Given the description of an element on the screen output the (x, y) to click on. 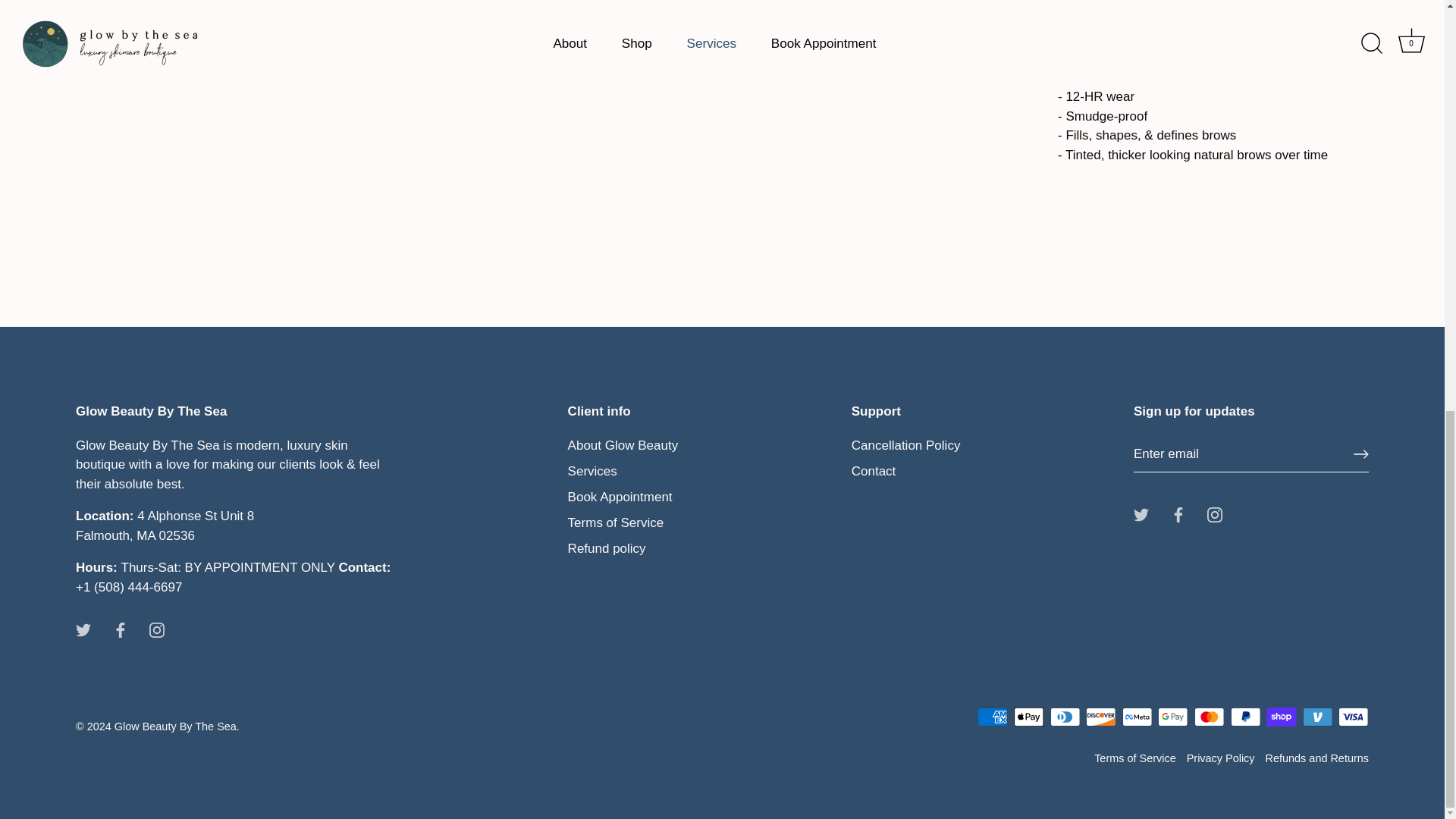
Diners Club (1064, 716)
Mastercard (1208, 716)
Google Pay (1172, 716)
Privacy Policy (1220, 758)
Refund policy (606, 548)
Instagram (1215, 513)
Instagram (156, 630)
Twitter (1141, 513)
Meta Pay (1136, 716)
Discover (1100, 716)
RIGHT ARROW LONG (1361, 453)
Shop Pay (1280, 716)
Venmo (1317, 716)
PayPal (1245, 716)
Cancellation Policy (905, 445)
